Given the description of an element on the screen output the (x, y) to click on. 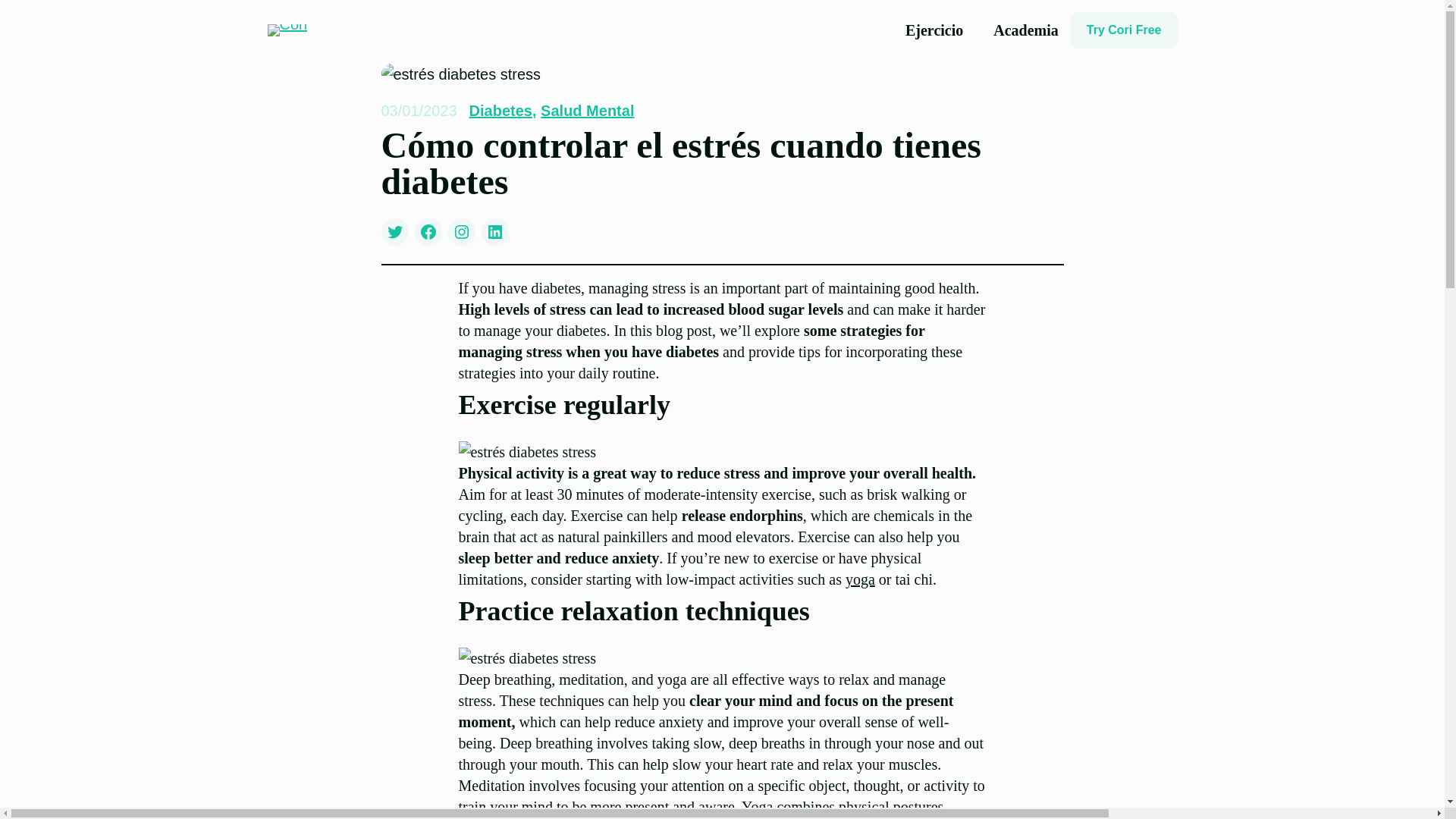
Facebook (427, 231)
Instagram (460, 231)
Salud Mental (586, 110)
Ejercicio (933, 29)
Diabetes (500, 110)
Academia (1025, 29)
LinkedIn (494, 231)
Twitter (393, 231)
Try Cori Free (1123, 30)
yoga (860, 579)
